Given the description of an element on the screen output the (x, y) to click on. 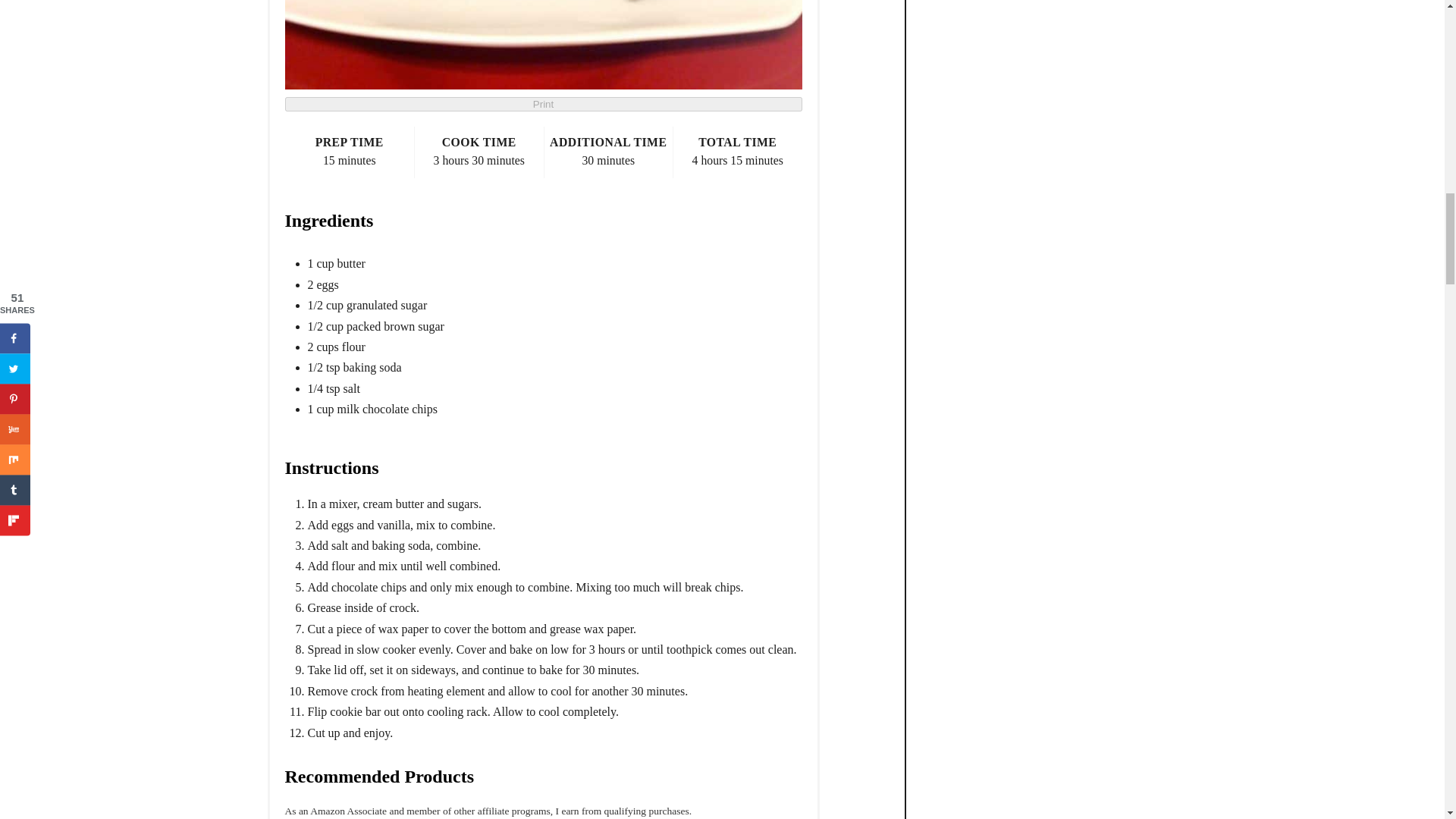
Print (543, 104)
